Given the description of an element on the screen output the (x, y) to click on. 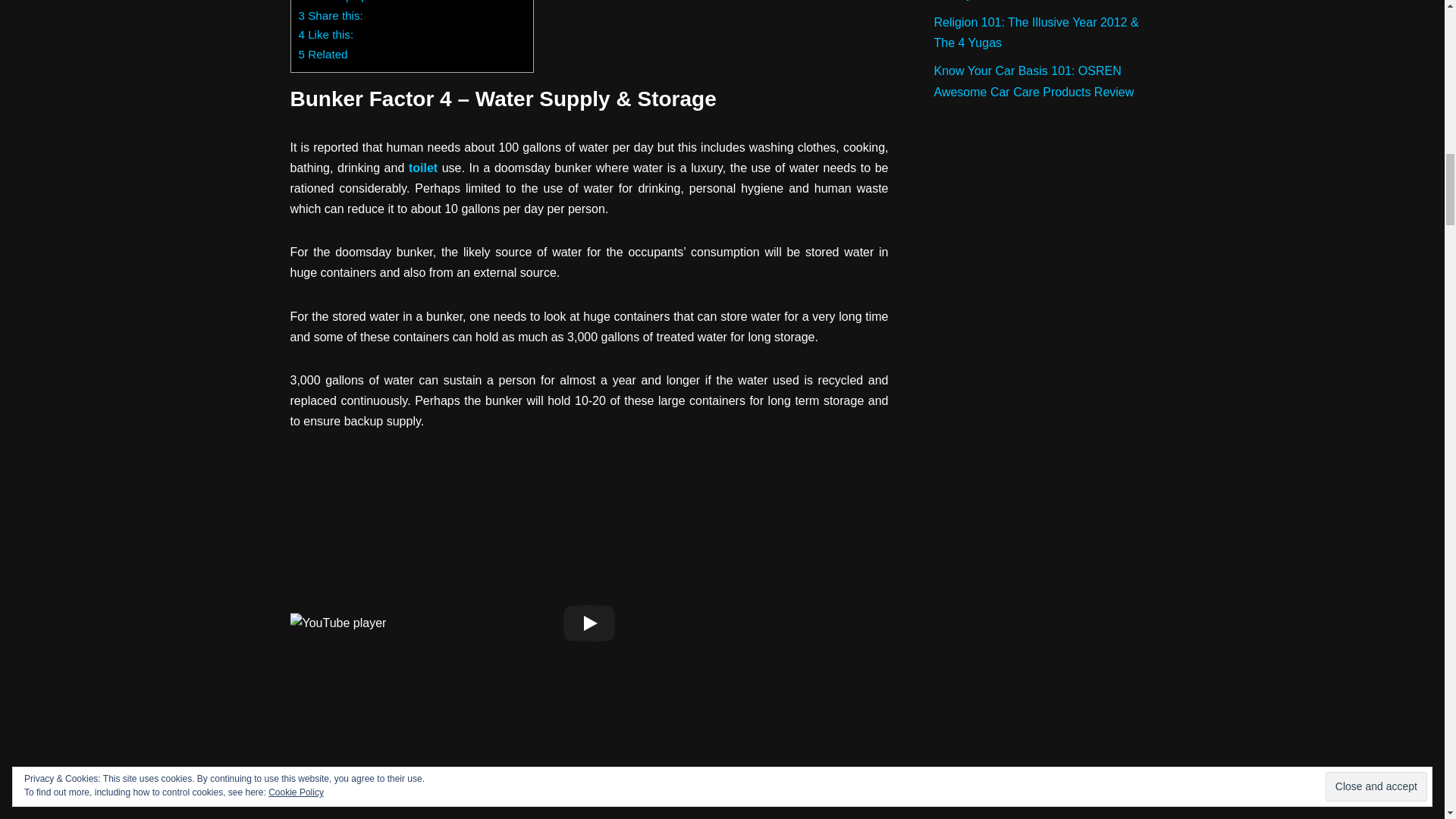
3 Share this: (330, 15)
toilet (423, 167)
2.5 Aquaponics farms (370, 1)
4 Like this: (325, 33)
5 Related (322, 53)
